Given the description of an element on the screen output the (x, y) to click on. 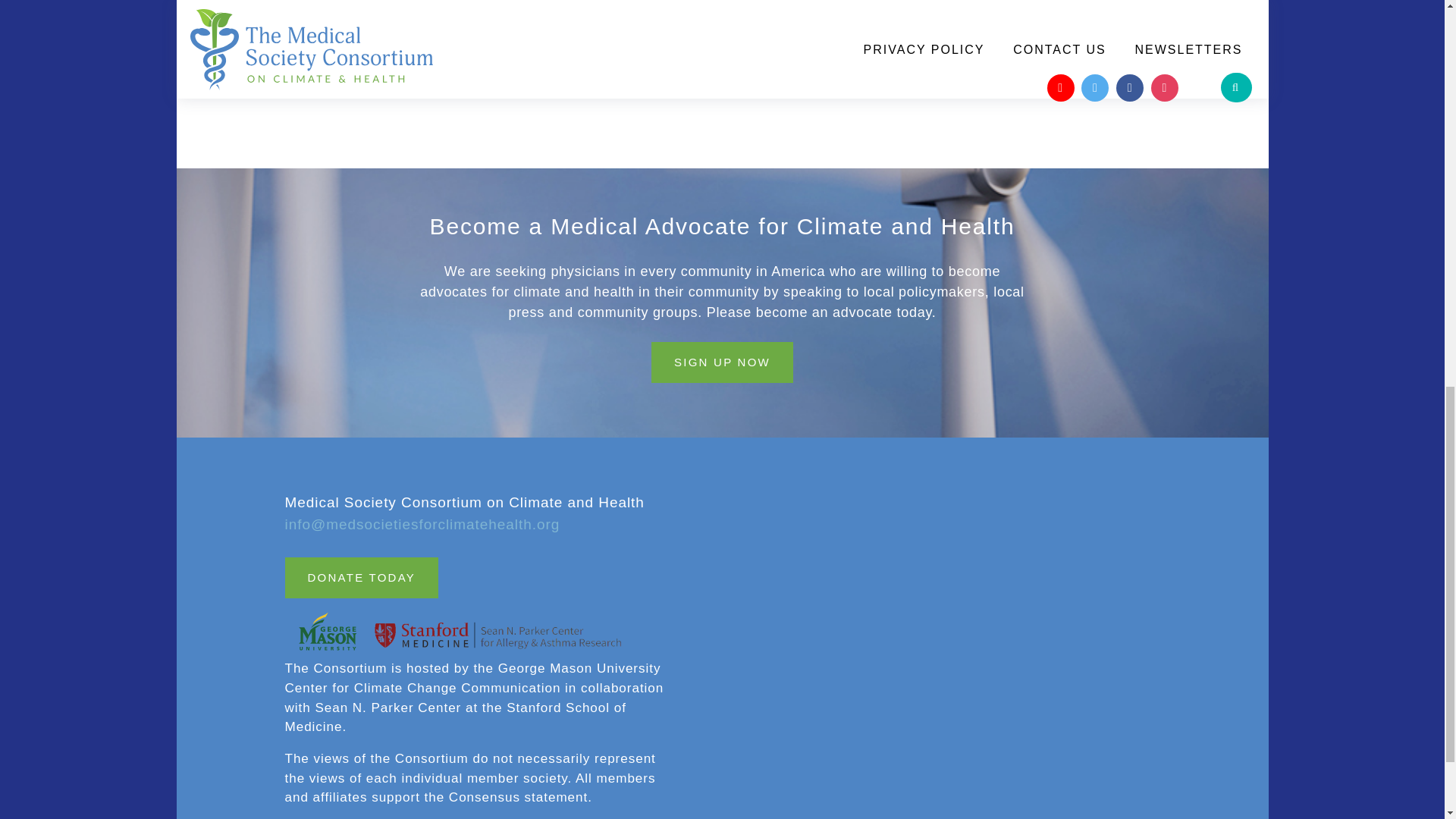
DONATE TODAY (362, 577)
SIGN UP NOW (721, 363)
REGISTER HERE (722, 75)
